Given the description of an element on the screen output the (x, y) to click on. 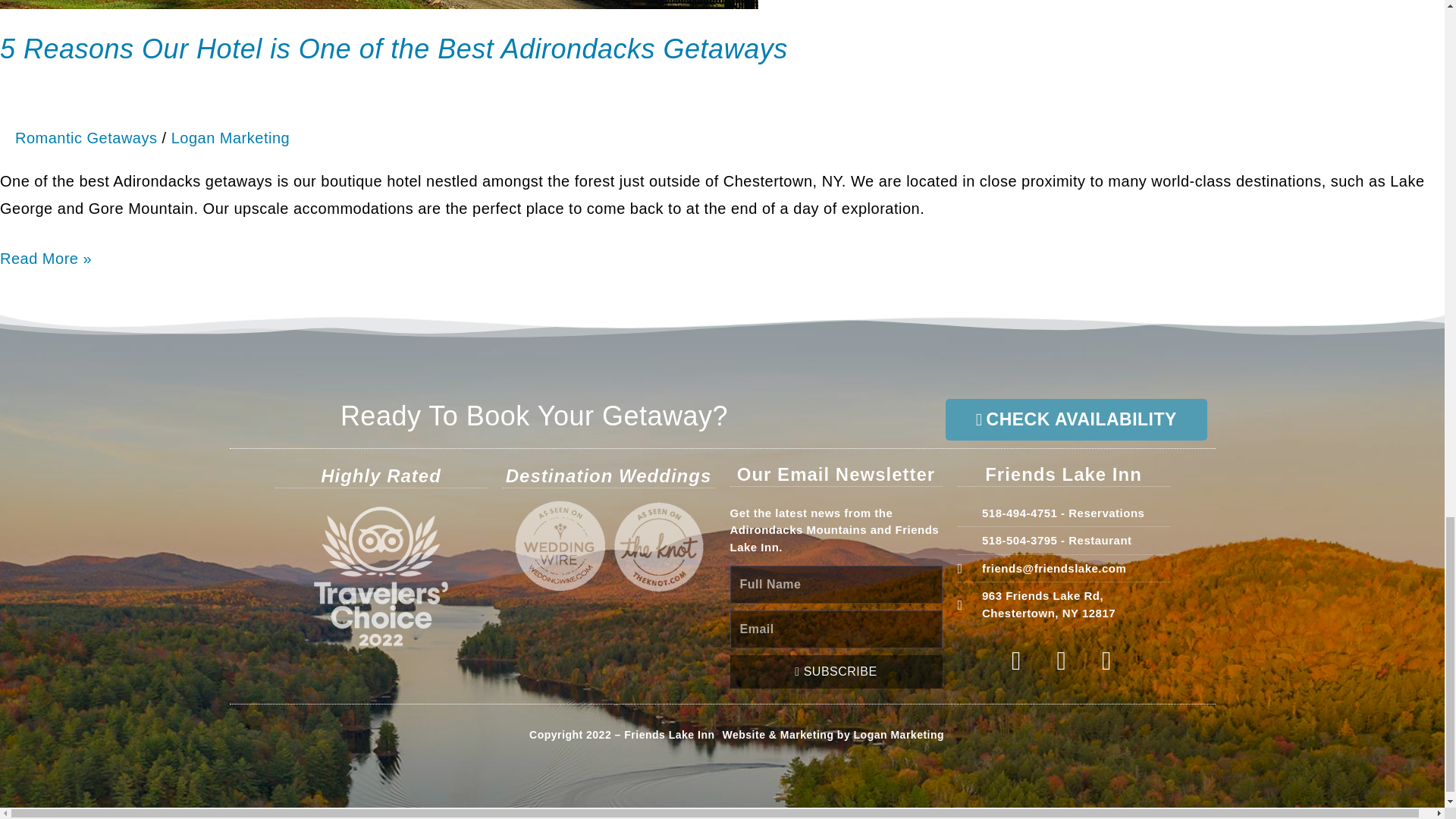
CHECK AVAILABILITY (1075, 419)
Romantic Getaways (85, 137)
Logan Marketing (898, 734)
SUBSCRIBE (835, 671)
Logan Marketing (230, 137)
5 Reasons Our Hotel is One of the Best Adirondacks Getaways (393, 48)
518-494-4751 - Reservations (1062, 513)
518-504-3795 - Restaurant (1062, 604)
View all posts by Logan Marketing (1062, 540)
